Given the description of an element on the screen output the (x, y) to click on. 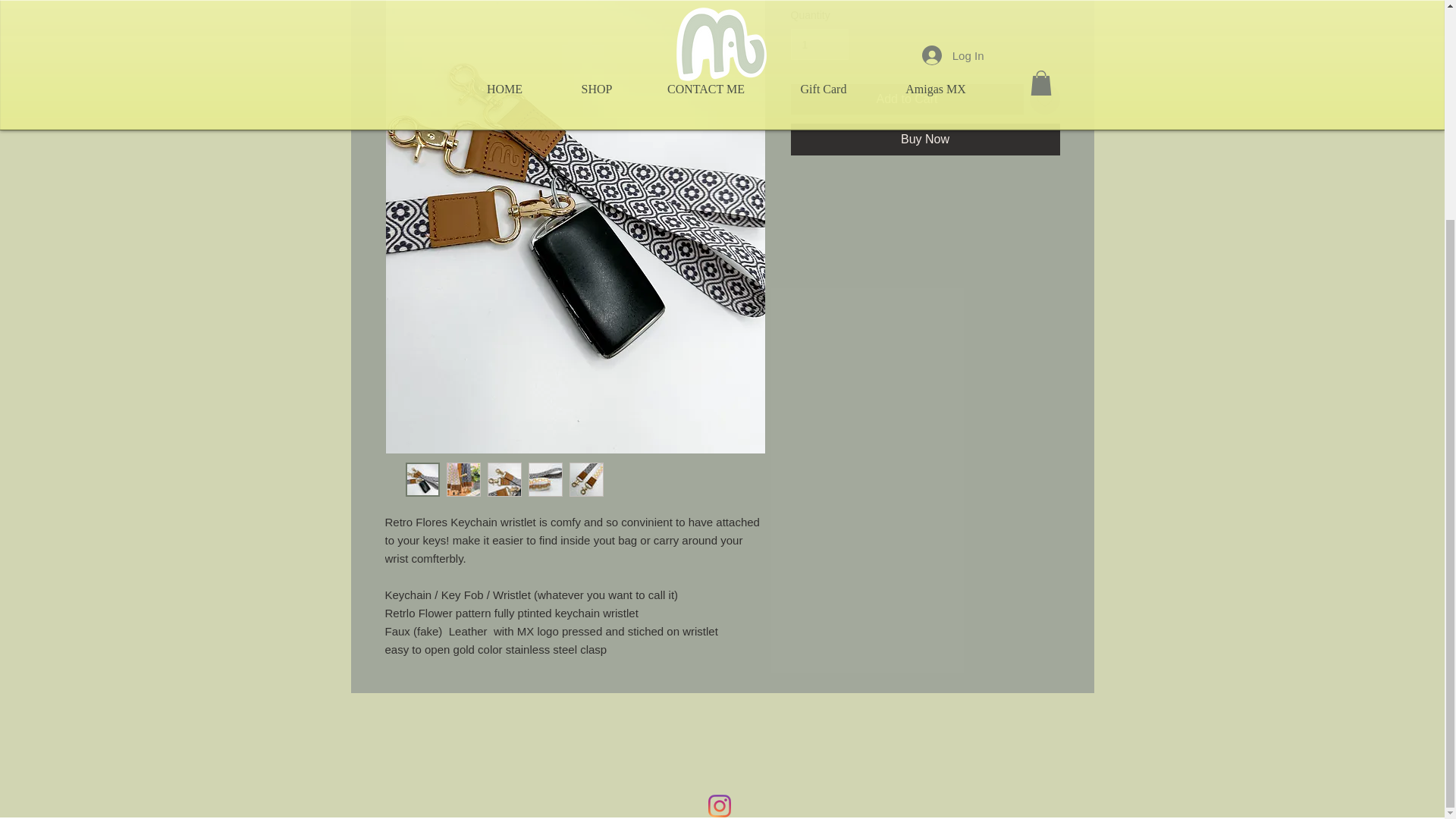
Add to Cart (906, 99)
Buy Now (924, 139)
1 (818, 43)
